Given the description of an element on the screen output the (x, y) to click on. 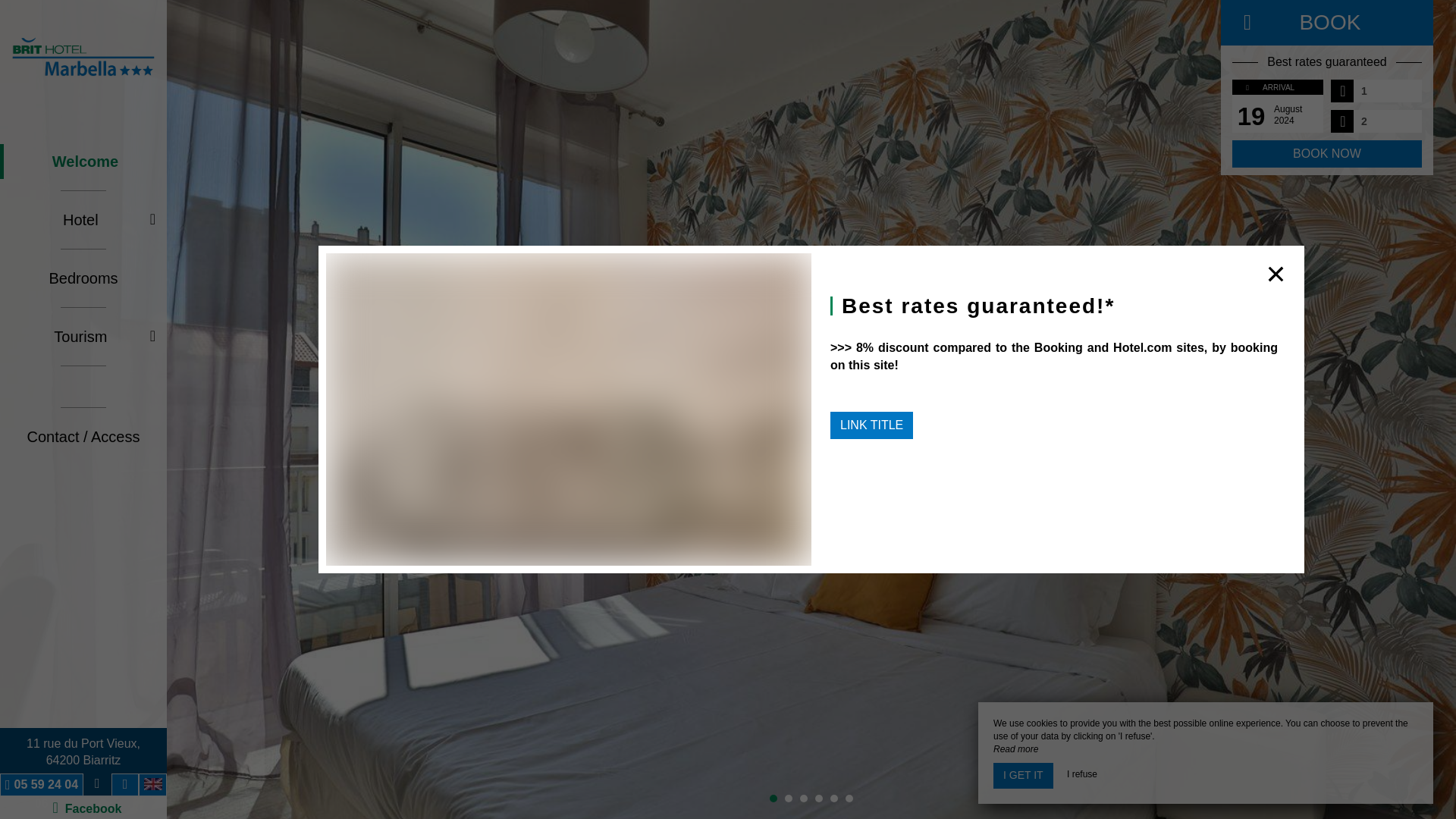
05 59 24 04 06 (46, 793)
Welcome (83, 161)
BOOK NOW (1326, 153)
1 (1383, 90)
Bedrooms (83, 278)
Welcome (83, 161)
Tourism (83, 336)
Hotel (82, 751)
  Facebook (83, 219)
